Given the description of an element on the screen output the (x, y) to click on. 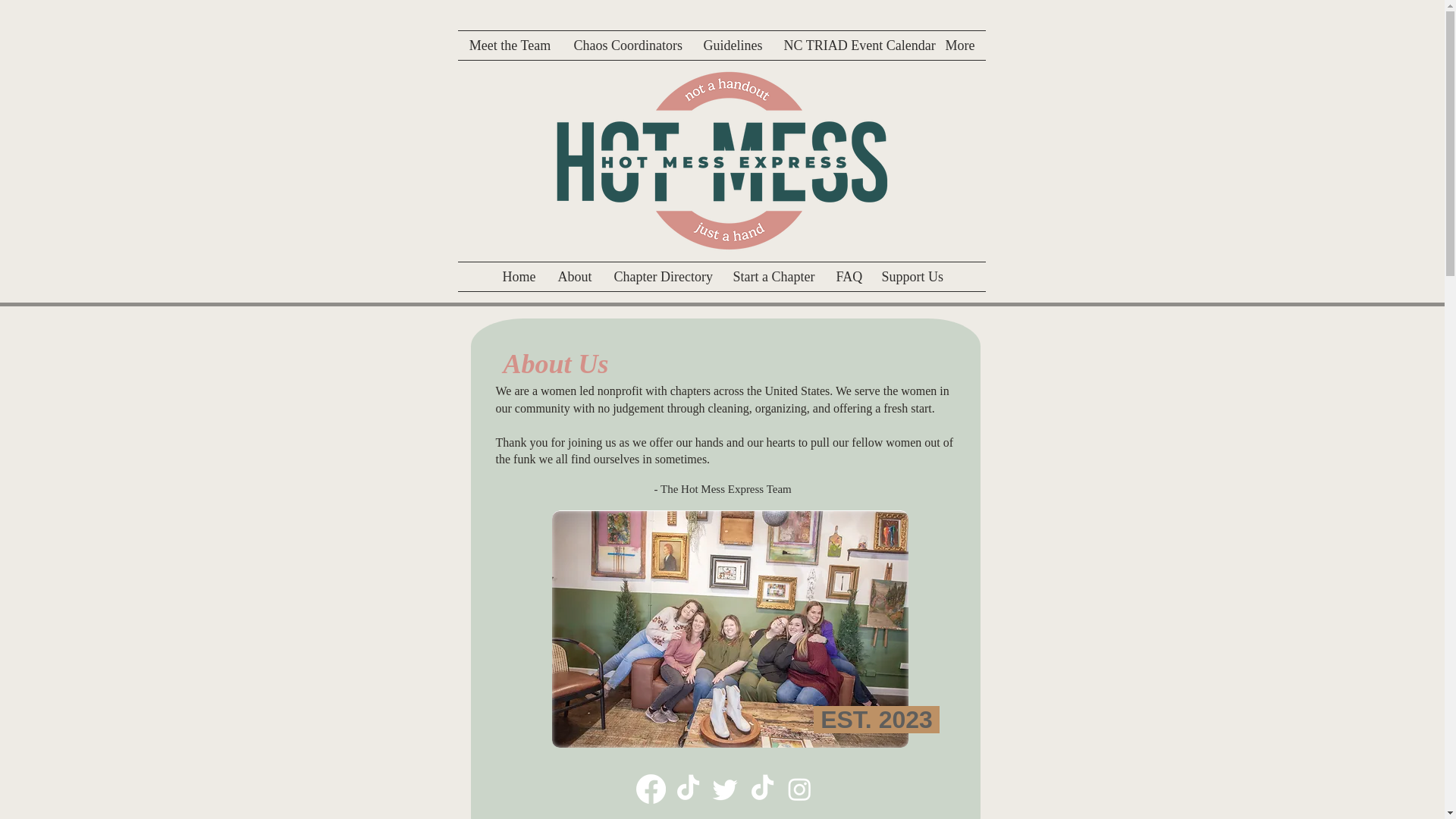
Chaos Coordinators (627, 45)
Guidelines (731, 45)
Chapter Directory (661, 276)
About (574, 276)
Meet the Team (510, 45)
NC TRIAD Event Calendar (852, 45)
Support Us (911, 276)
Start a Chapter (773, 276)
Home (519, 276)
FAQ (847, 276)
